Given the description of an element on the screen output the (x, y) to click on. 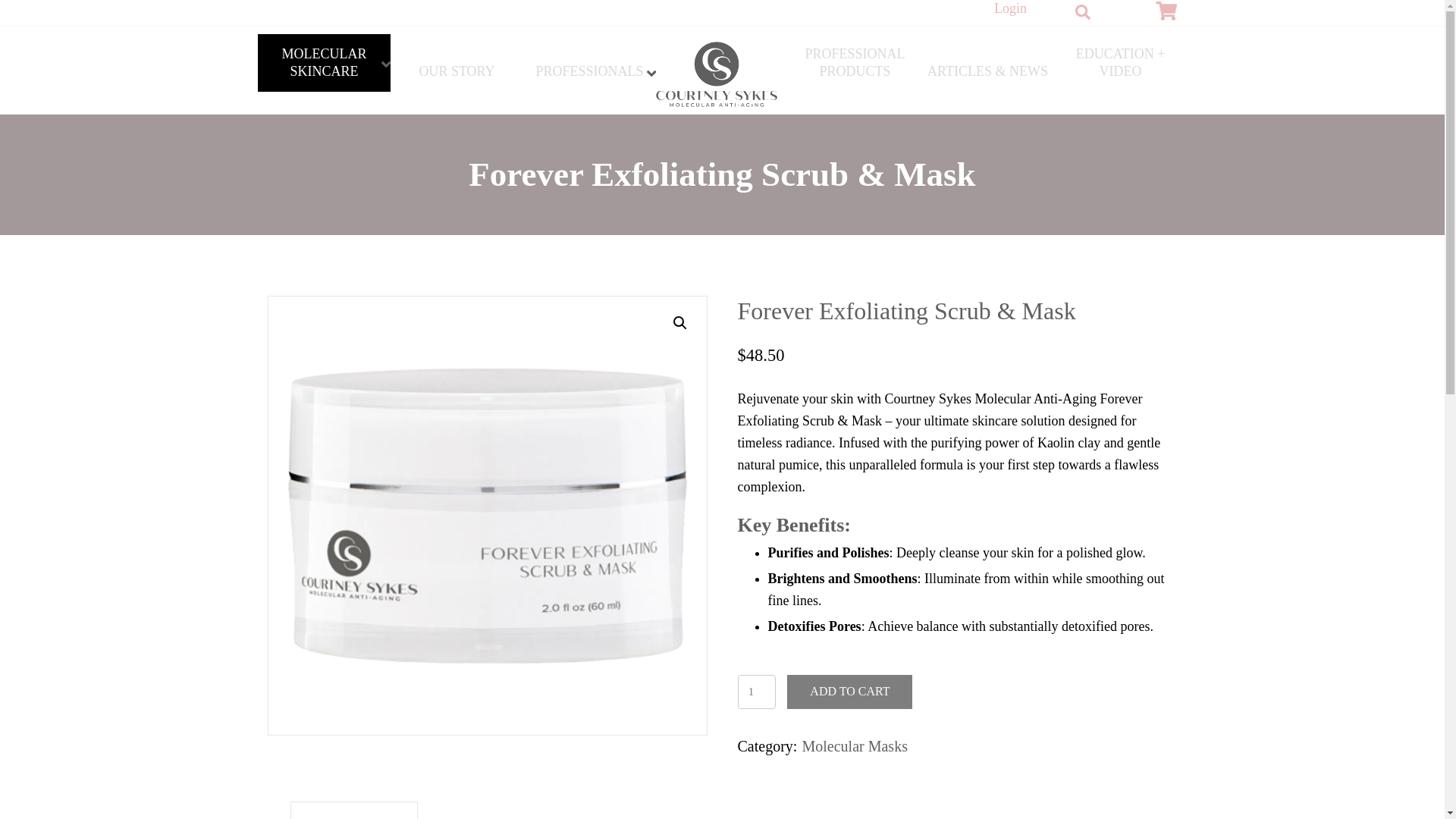
1 (756, 691)
MOLECULAR SKINCARE (323, 63)
Login (1010, 7)
